Given the description of an element on the screen output the (x, y) to click on. 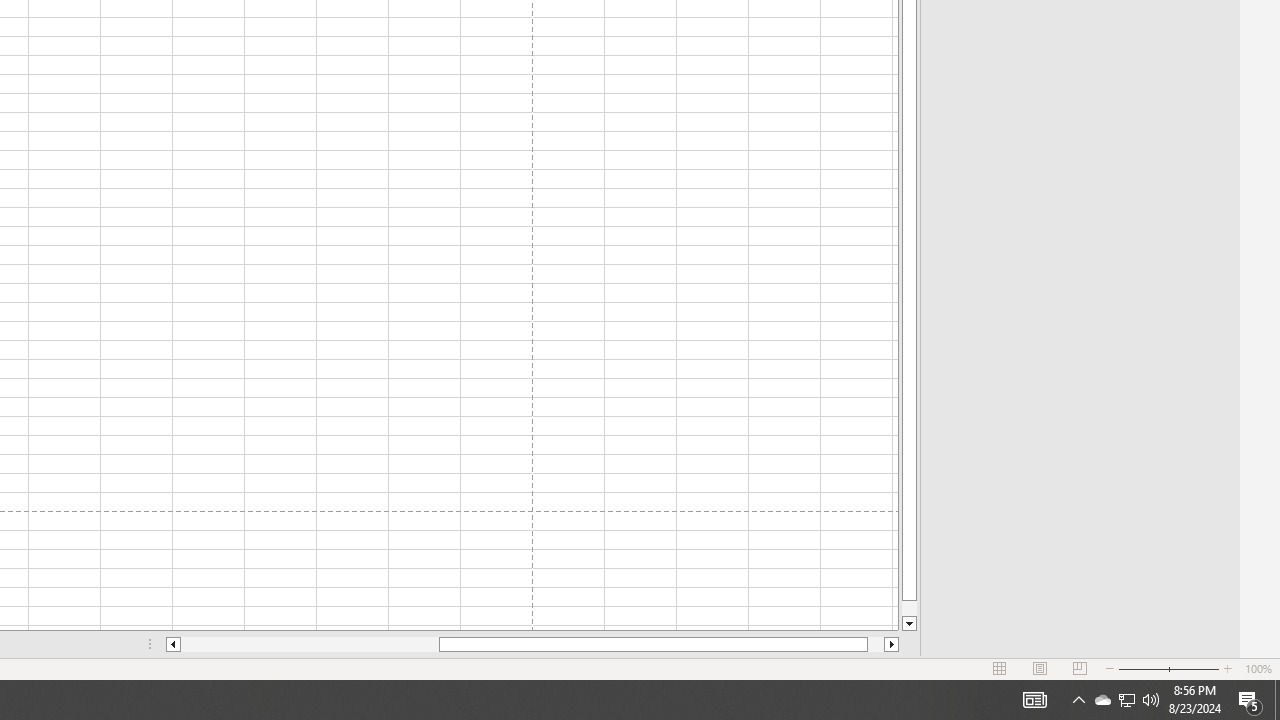
Page left (309, 644)
